Given the description of an element on the screen output the (x, y) to click on. 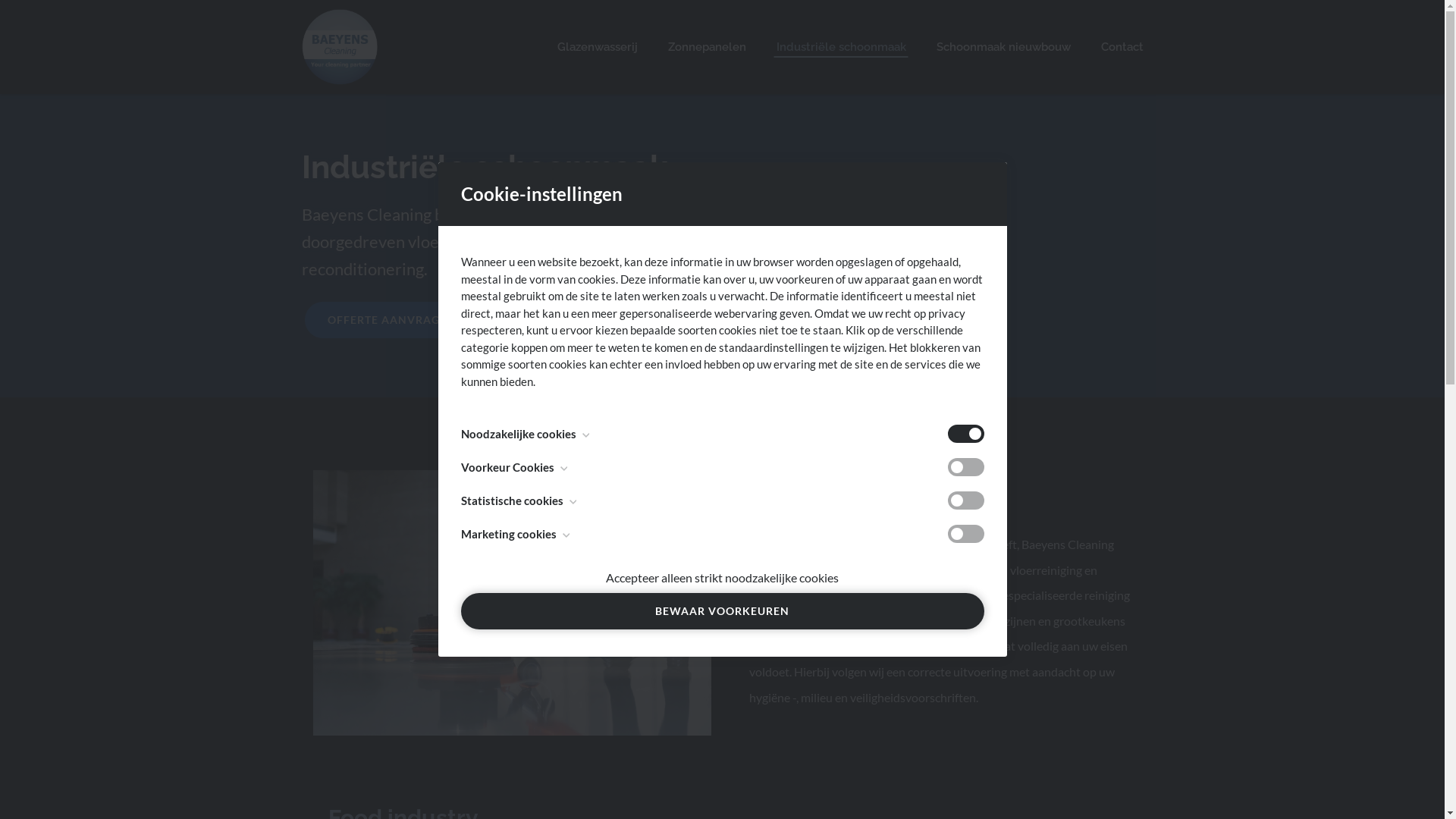
Zonnepanelen Element type: text (706, 46)
Glazenwasserij Element type: text (596, 46)
Schoonmaak nieuwbouw Element type: text (1002, 46)
OFFERTE AANVRAGEN Element type: text (391, 319)
Contact Element type: text (1122, 46)
